Given the description of an element on the screen output the (x, y) to click on. 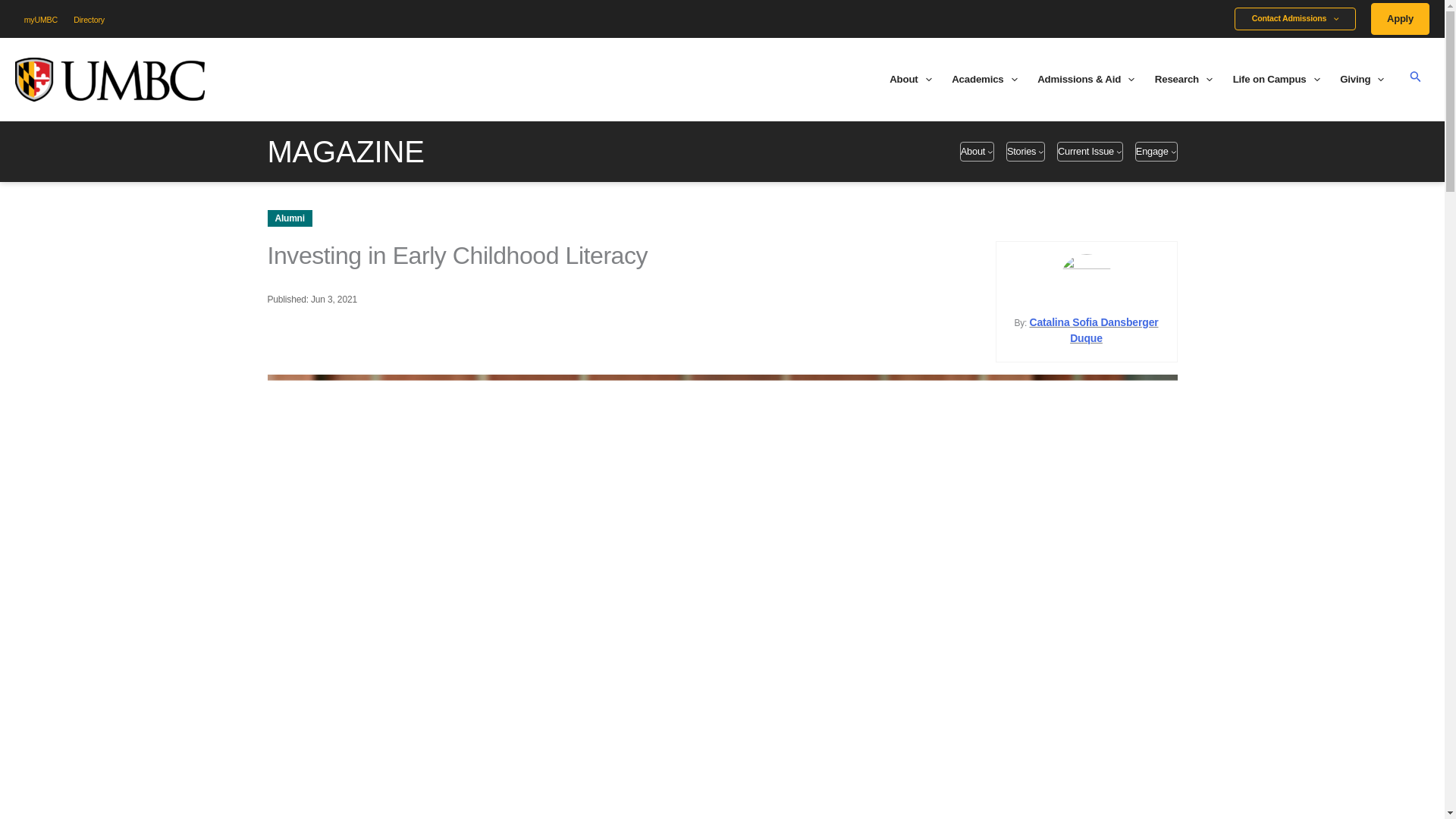
Research (1183, 78)
Academics (984, 78)
myUMBC (40, 19)
Apply (1400, 19)
About (910, 78)
Directory (89, 19)
Contact Admissions (1294, 18)
